Given the description of an element on the screen output the (x, y) to click on. 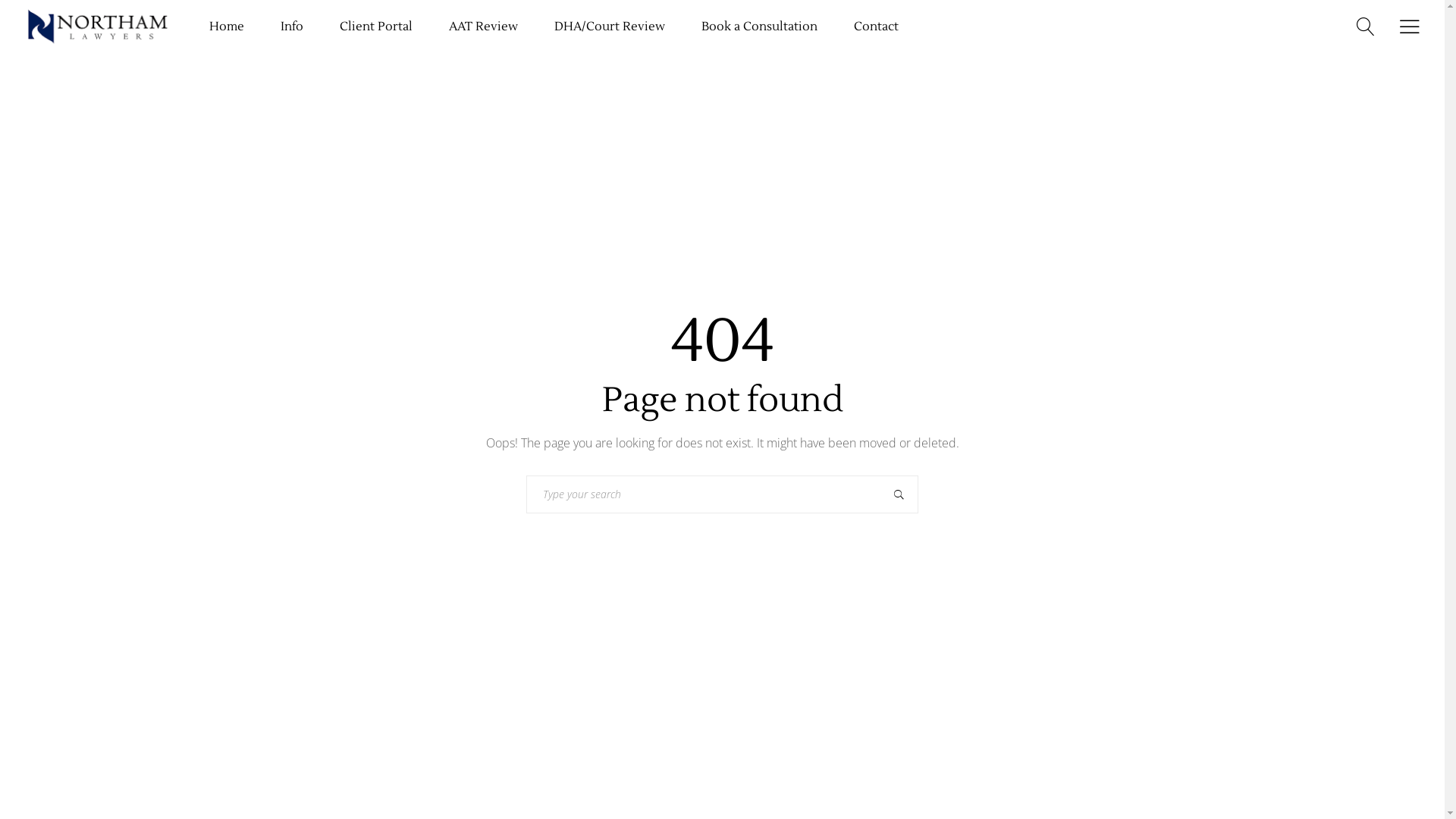
Info Element type: text (291, 26)
Home Element type: text (226, 26)
Search for: Element type: hover (703, 494)
Contact Element type: text (875, 26)
DHA/Court Review Element type: text (609, 26)
Book a Consultation Element type: text (759, 26)
AAT Review Element type: text (483, 26)
Client Portal Element type: text (375, 26)
